Given the description of an element on the screen output the (x, y) to click on. 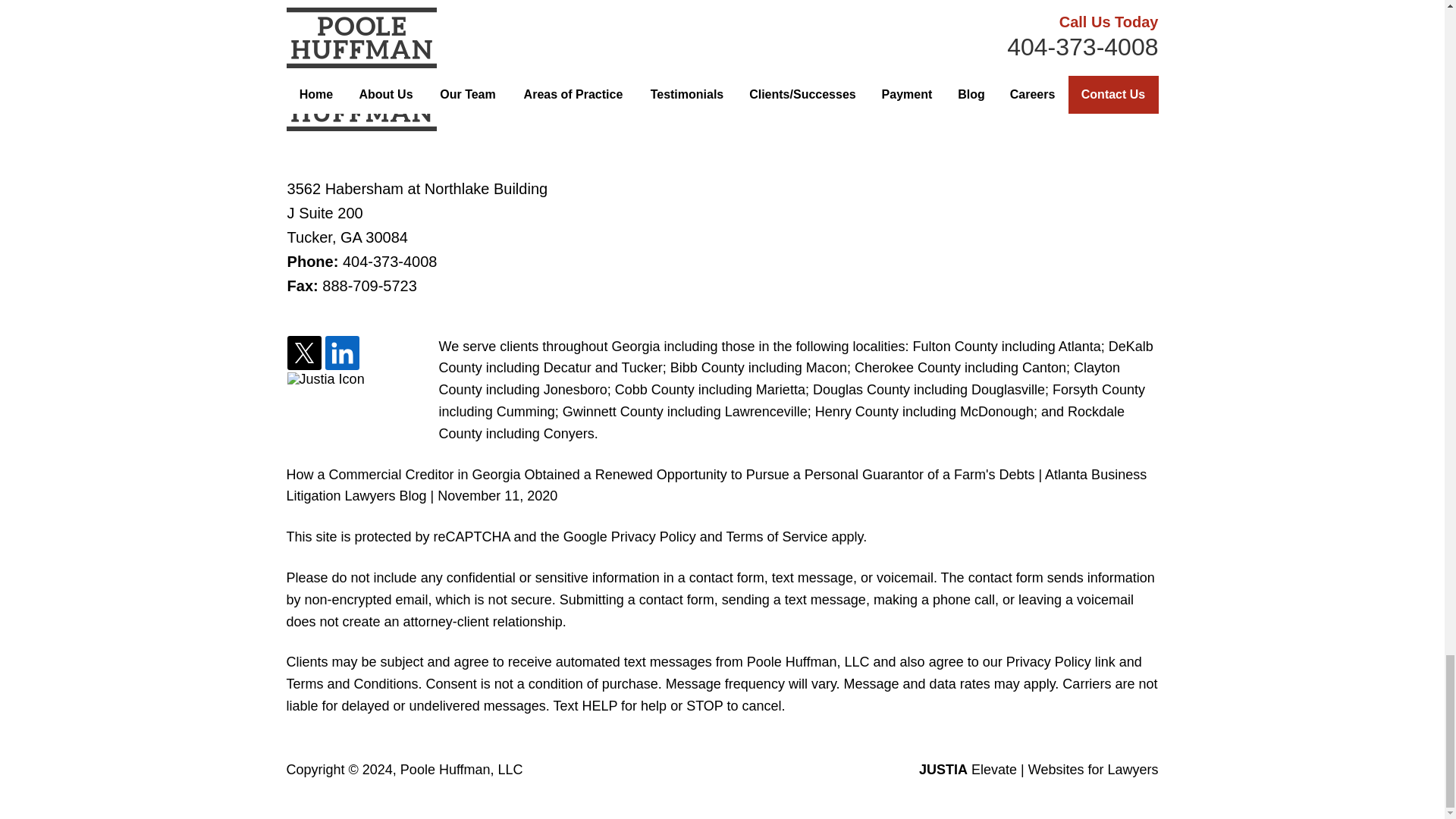
Linkedin (341, 353)
Twitter (303, 353)
Justia (325, 378)
